Given the description of an element on the screen output the (x, y) to click on. 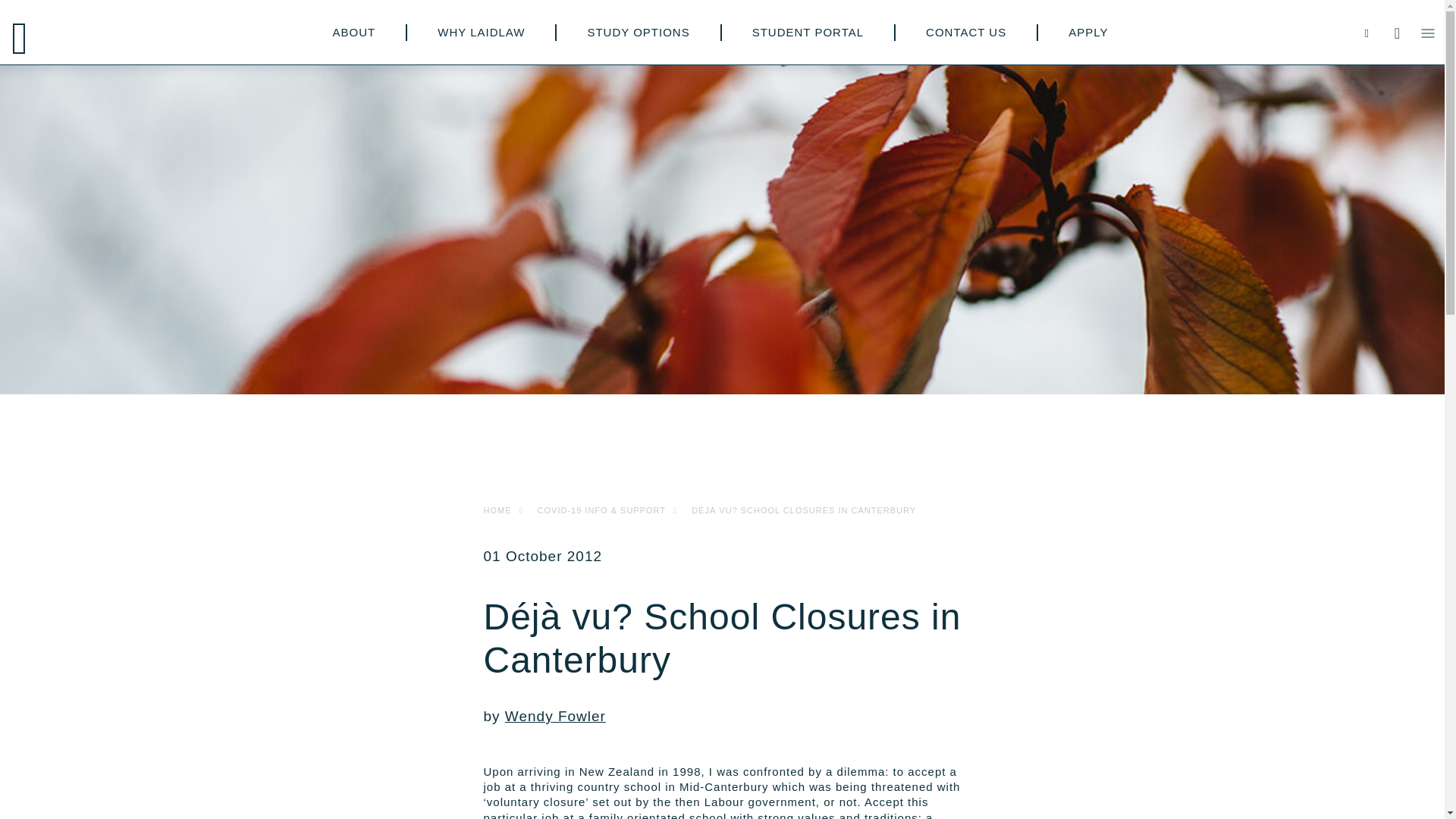
STUDY OPTIONS (637, 31)
STUDENT PORTAL (807, 31)
APPLY (1088, 31)
ABOUT (354, 31)
WHY LAIDLAW (481, 31)
CONTACT US (966, 31)
